Given the description of an element on the screen output the (x, y) to click on. 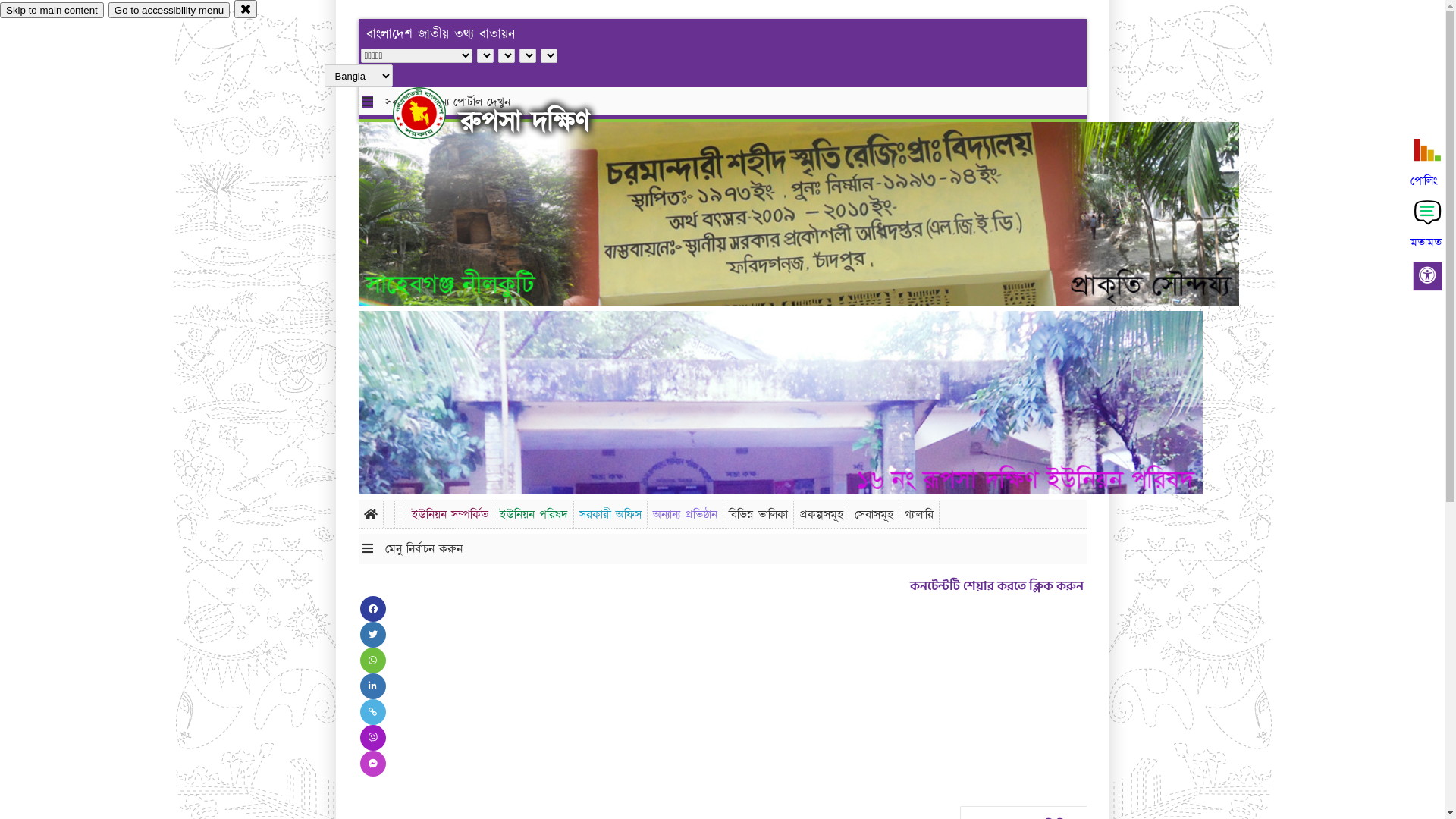

                
             Element type: hover (431, 112)
Go to accessibility menu Element type: text (168, 10)
Skip to main content Element type: text (51, 10)
close Element type: hover (245, 9)
